Given the description of an element on the screen output the (x, y) to click on. 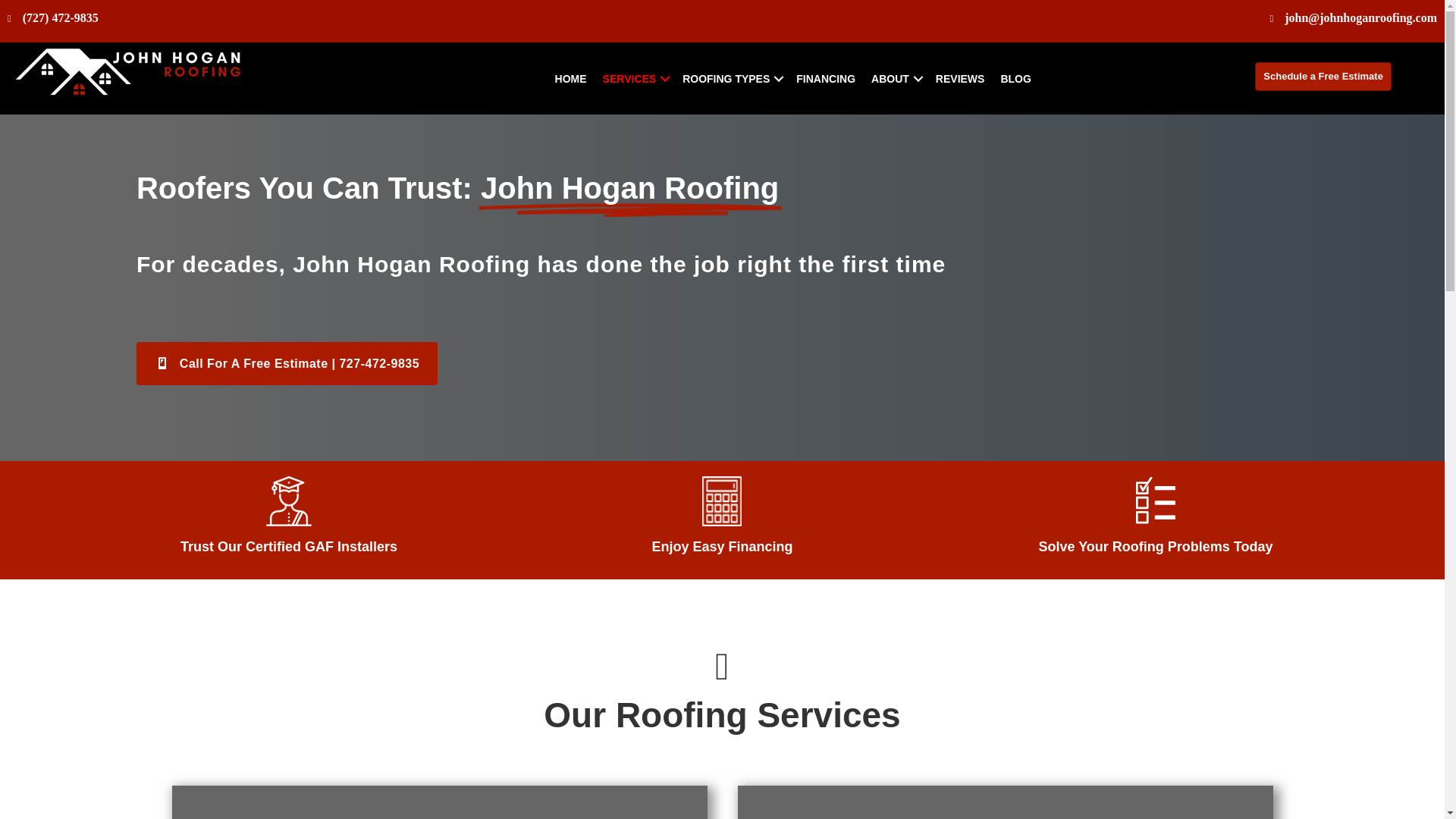
BLOG (1015, 78)
Schedule a Free Estimate (1323, 76)
Joh Hogan Roofing in Clearwater, Florida (128, 79)
ROOFING TYPES (731, 78)
FINANCING (826, 78)
Roofing Services (635, 78)
Roofing Types (731, 78)
REVIEWS (960, 78)
ABOUT (895, 78)
HOME (570, 78)
